Given the description of an element on the screen output the (x, y) to click on. 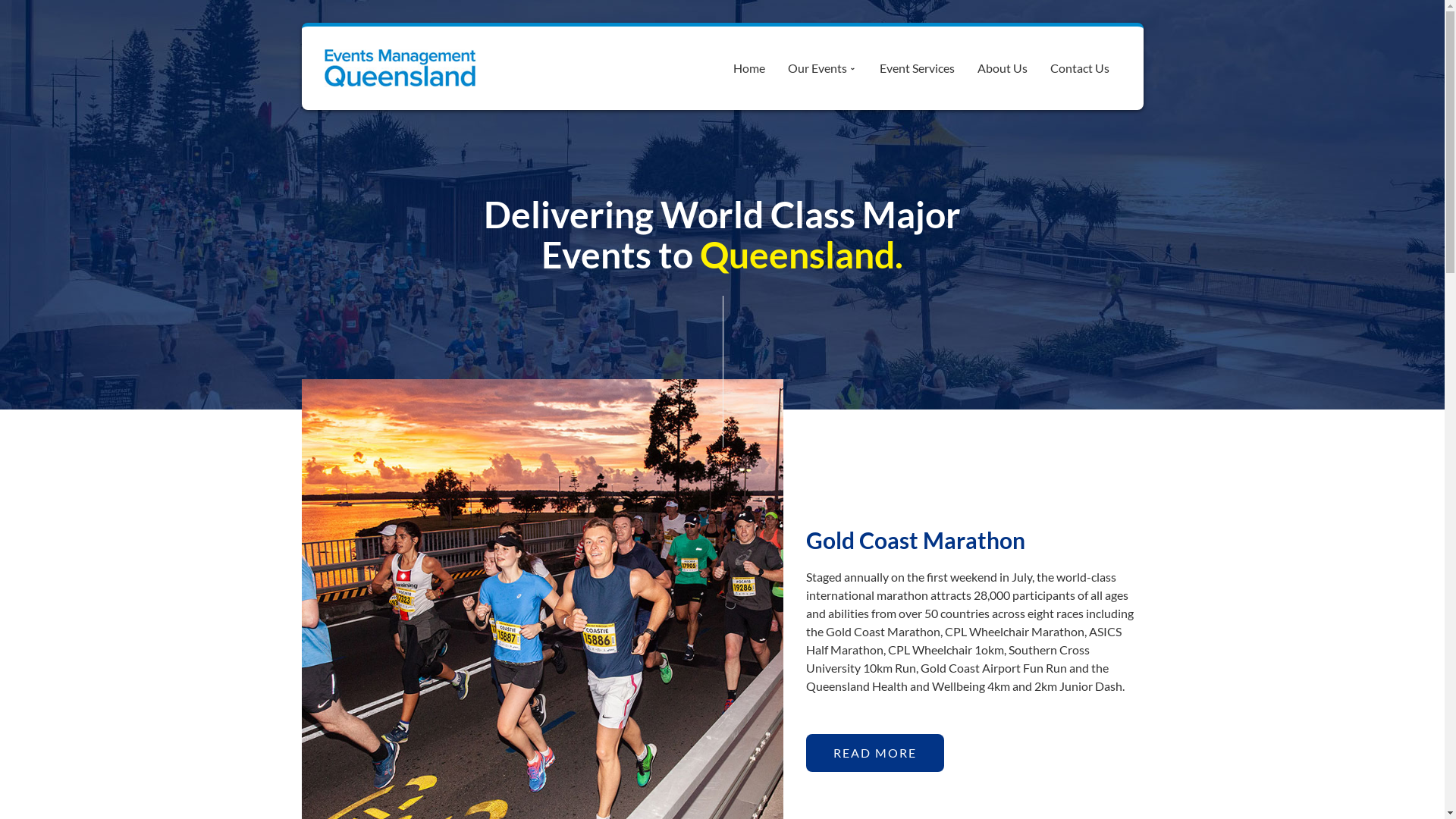
Contact Us Element type: text (1079, 67)
Event Services Element type: text (916, 67)
About Us Element type: text (1002, 67)
Home Element type: text (748, 67)
Our Events Element type: text (822, 67)
READ MORE Element type: text (874, 752)
